Given the description of an element on the screen output the (x, y) to click on. 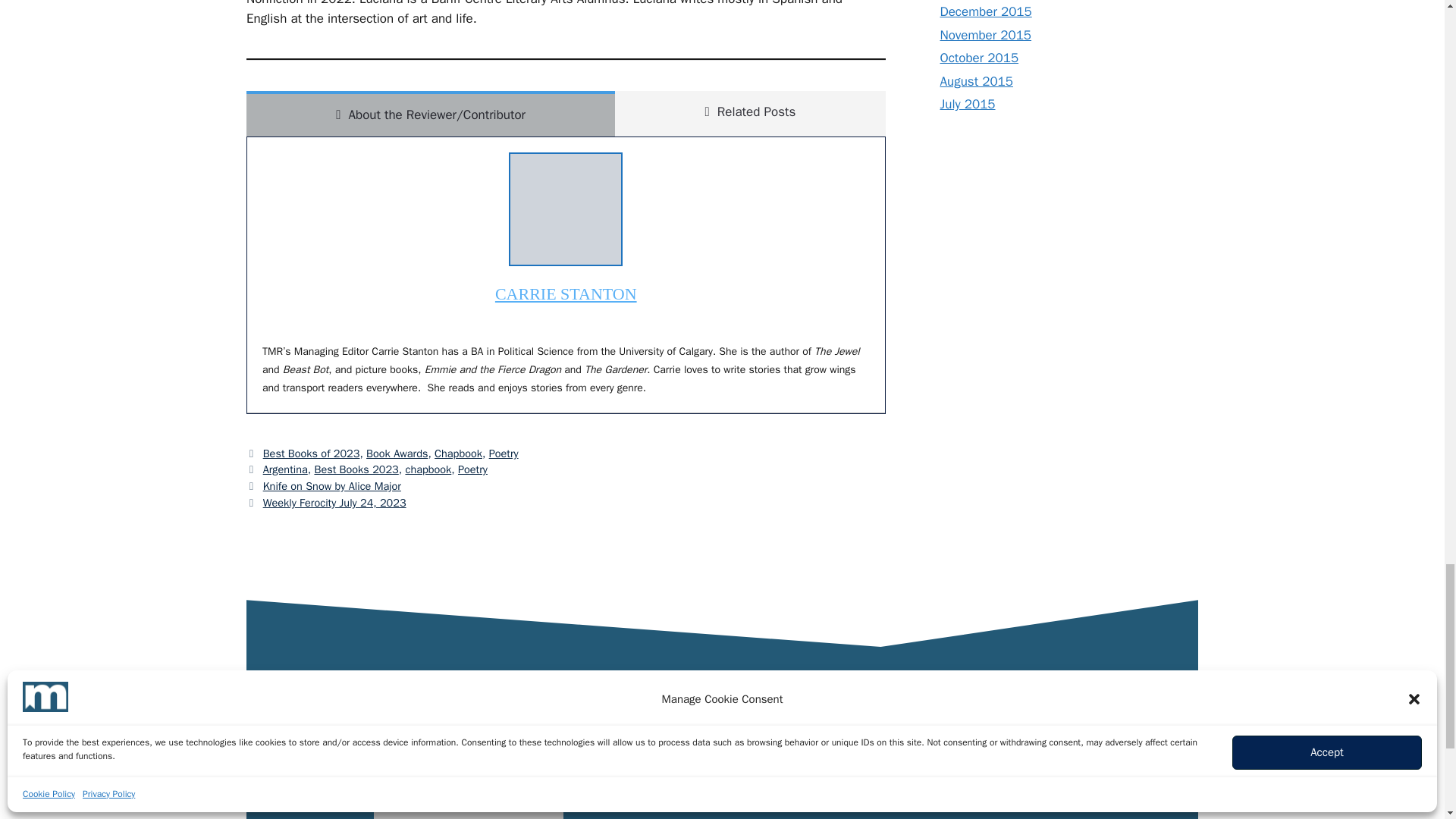
cropped-New-TMR-logo-2024.png (468, 760)
